Given the description of an element on the screen output the (x, y) to click on. 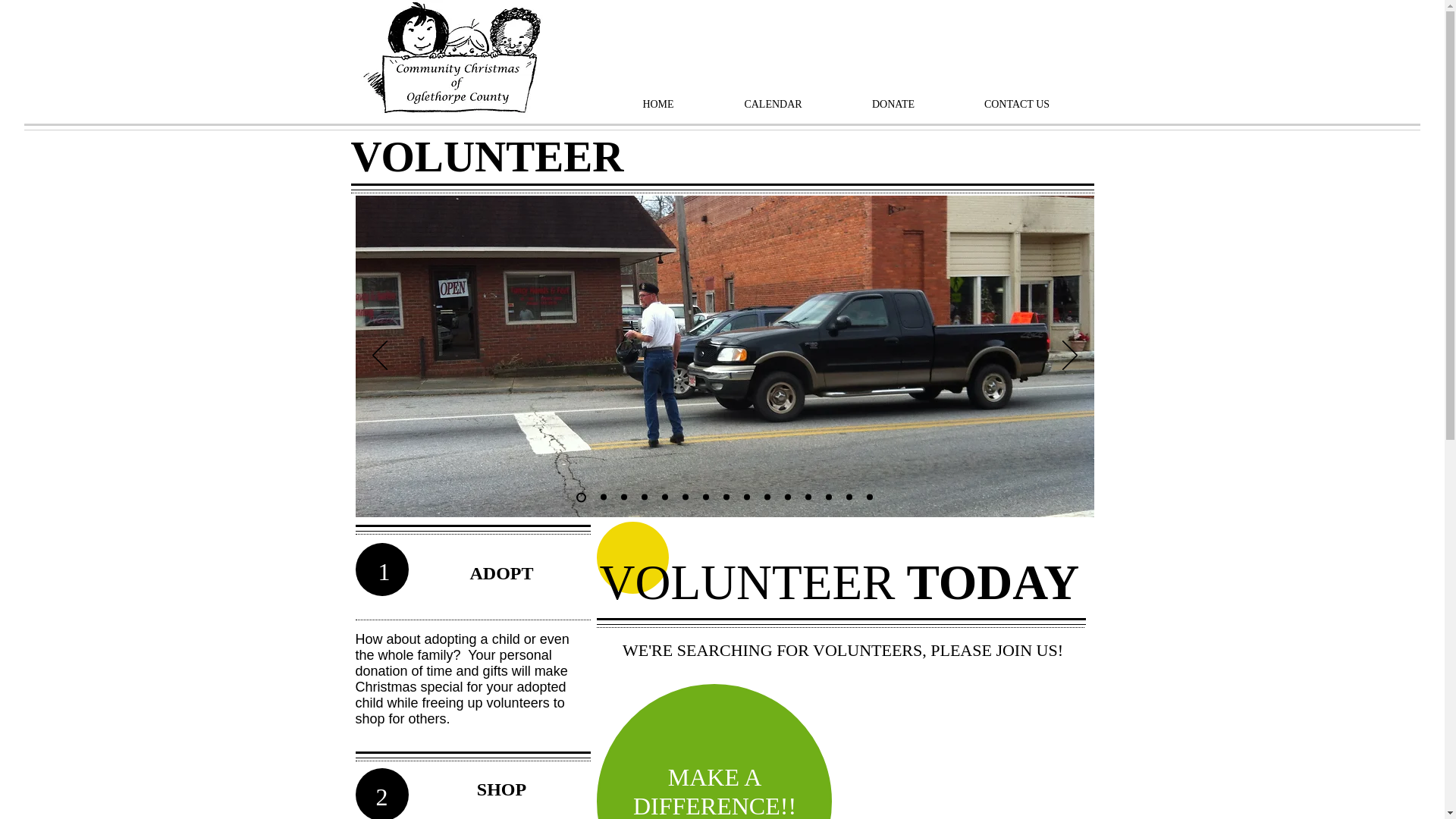
HOME (658, 104)
CALENDAR (773, 104)
CONTACT US (1016, 104)
DONATE (893, 104)
